Given the description of an element on the screen output the (x, y) to click on. 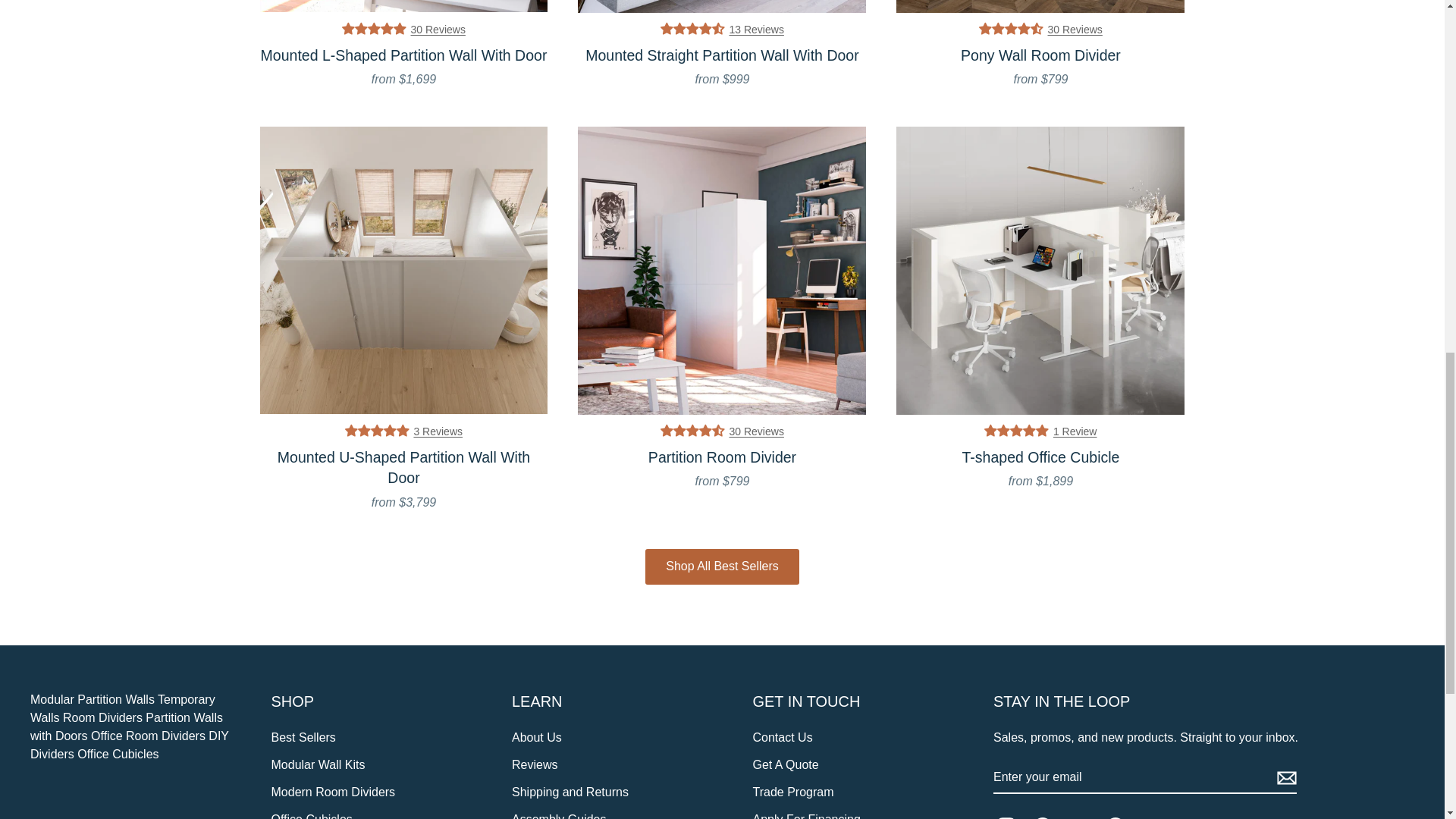
MENU (162, 46)
Diyversify on Pinterest (1120, 812)
Diyversify on Instagram (1011, 812)
Diyversify on Twitter (1084, 812)
Shop All Best Sellers (722, 566)
Diyversify on Facebook (1047, 812)
